Given the description of an element on the screen output the (x, y) to click on. 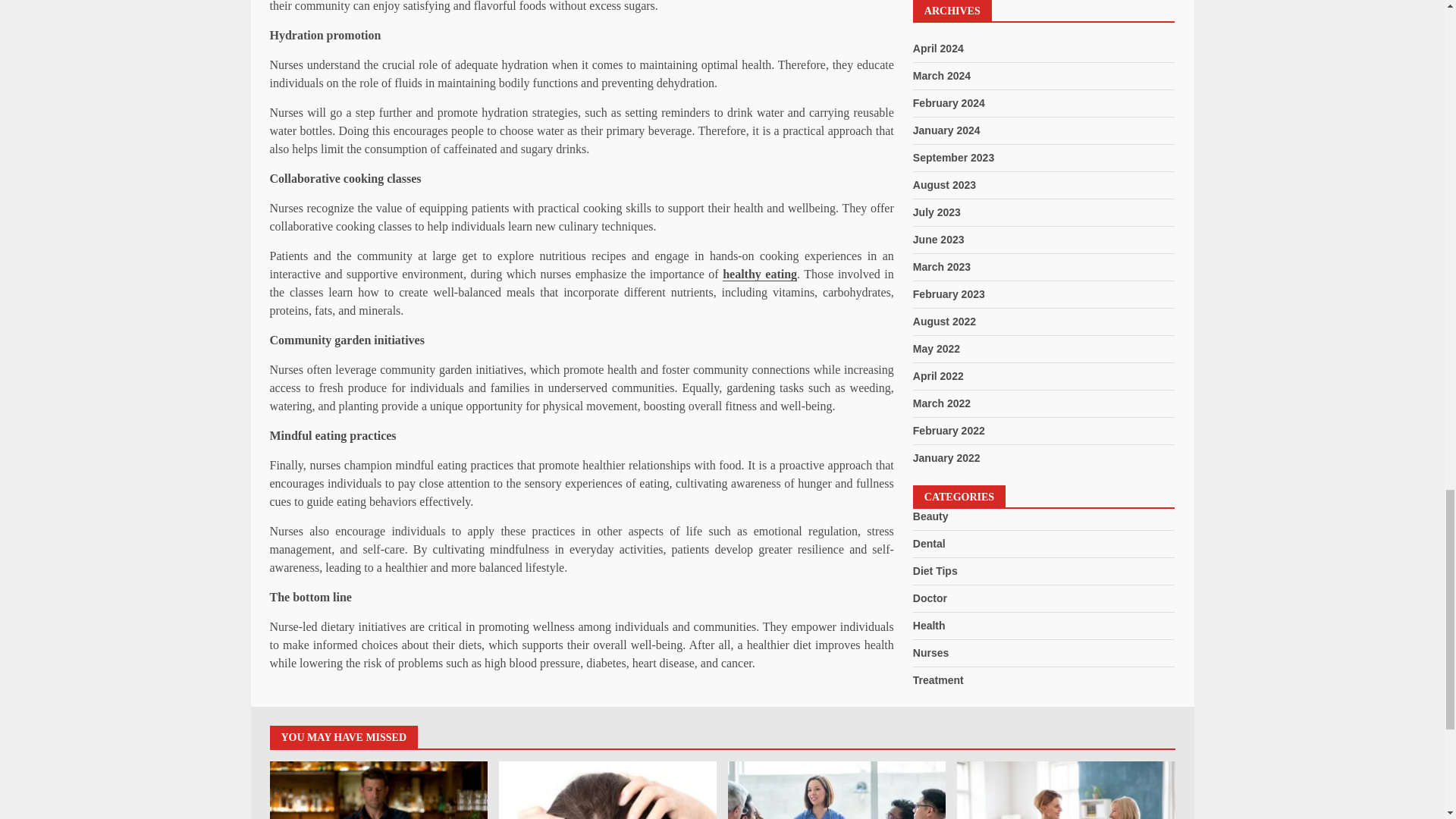
healthy eating (759, 274)
